Given the description of an element on the screen output the (x, y) to click on. 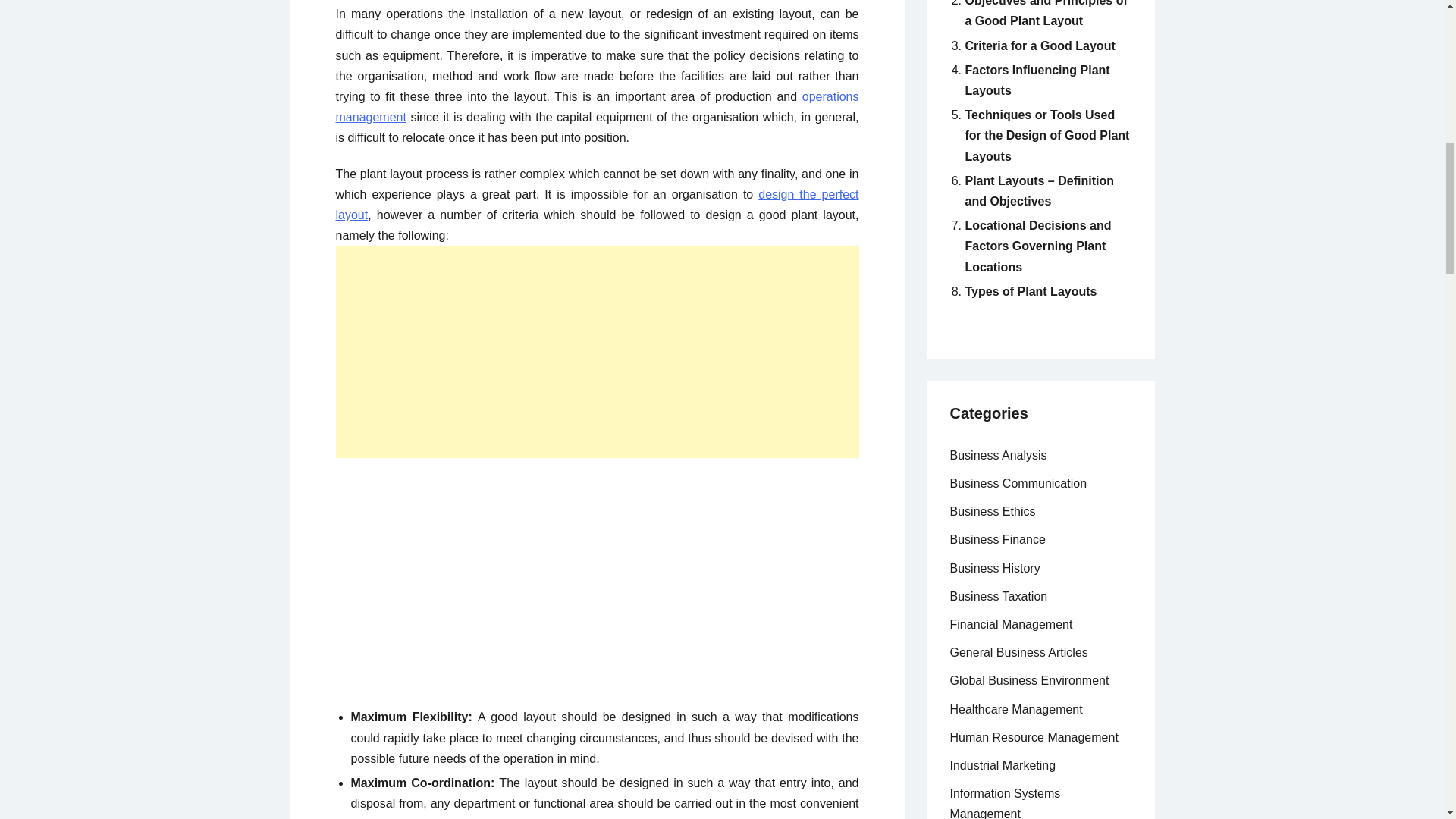
design the perfect layout (596, 204)
operations management (596, 106)
Advertisement (580, 579)
